Given the description of an element on the screen output the (x, y) to click on. 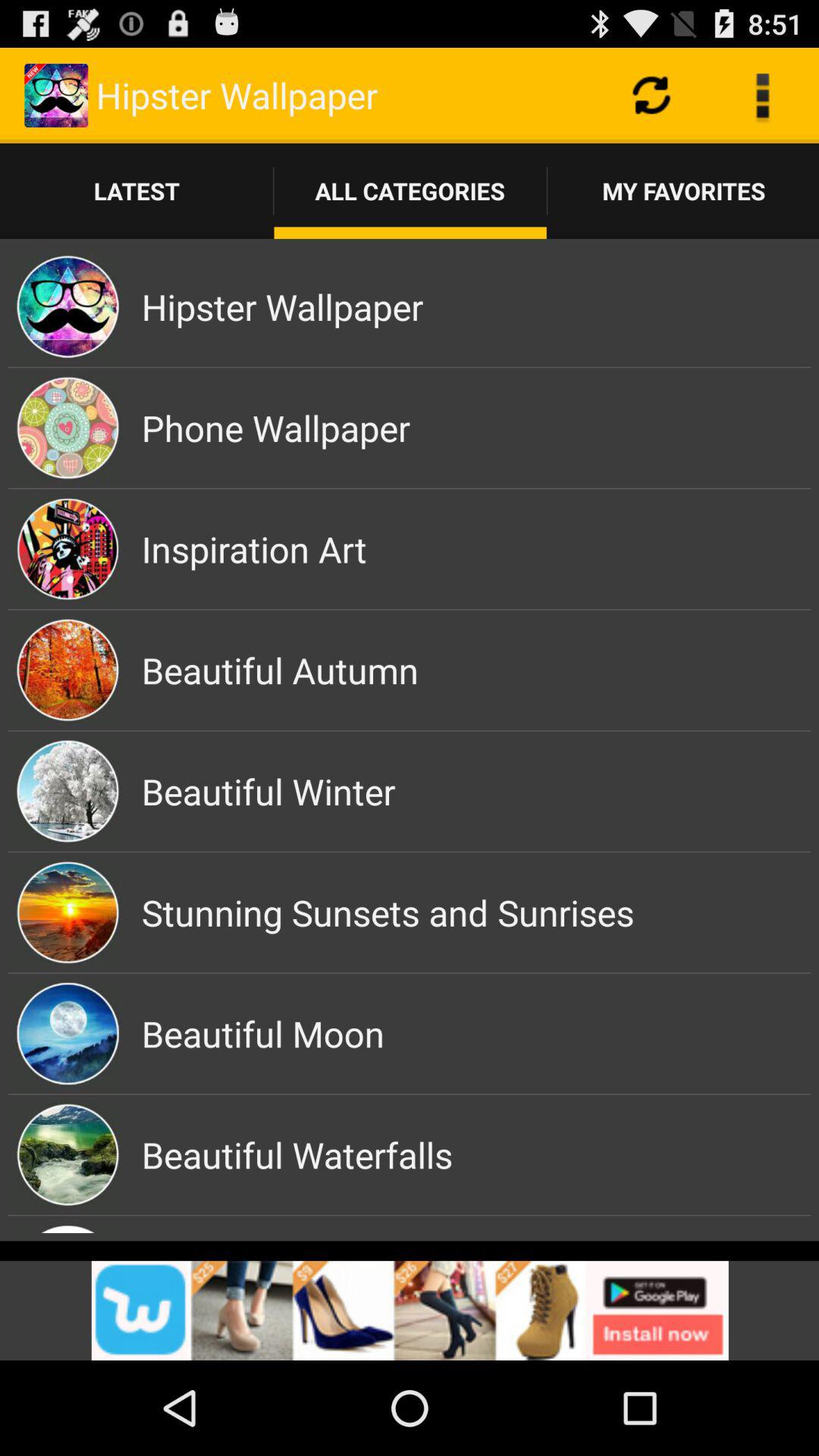
advertisement the article (409, 1310)
